Given the description of an element on the screen output the (x, y) to click on. 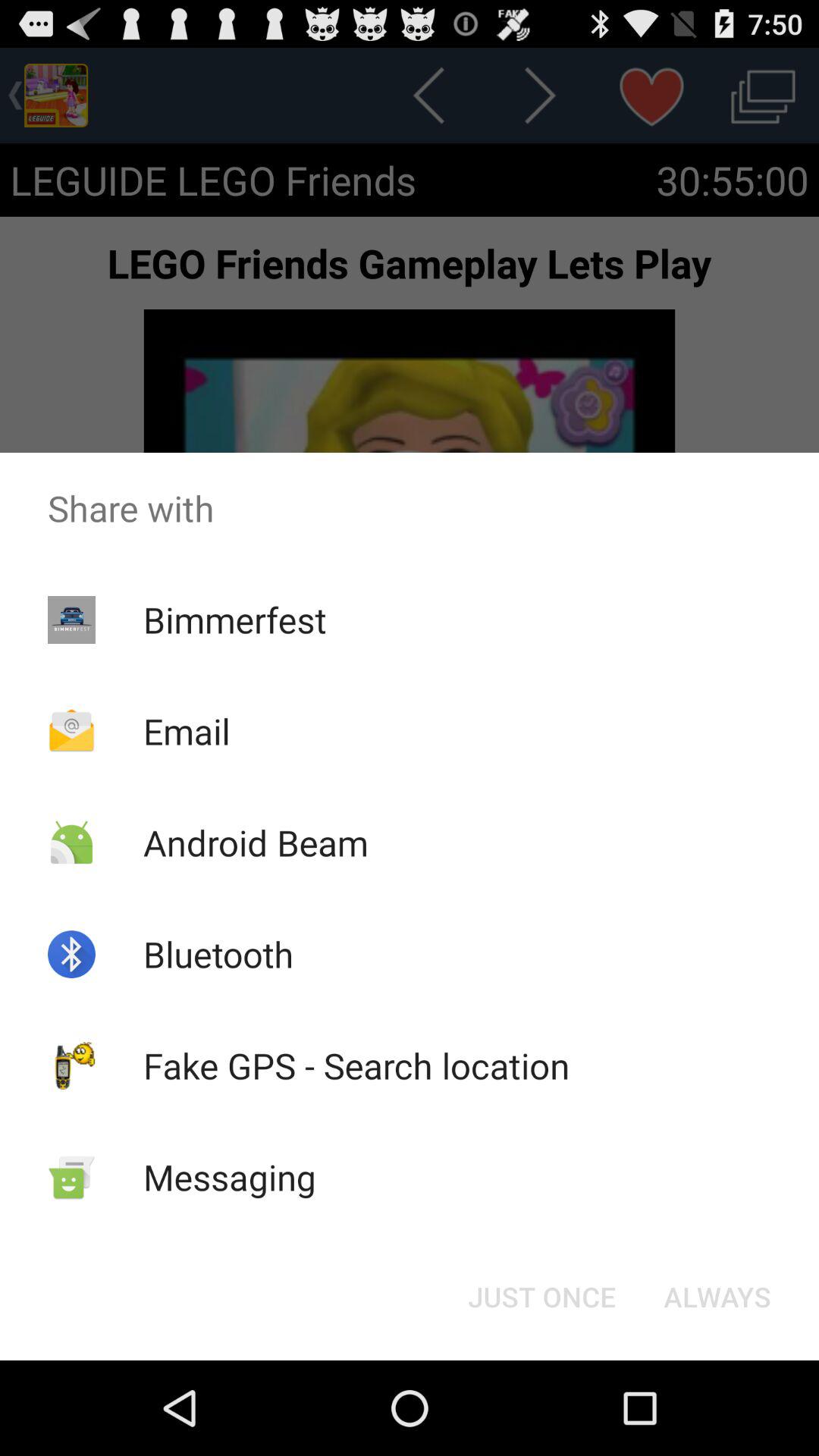
open item below the bluetooth icon (356, 1065)
